Given the description of an element on the screen output the (x, y) to click on. 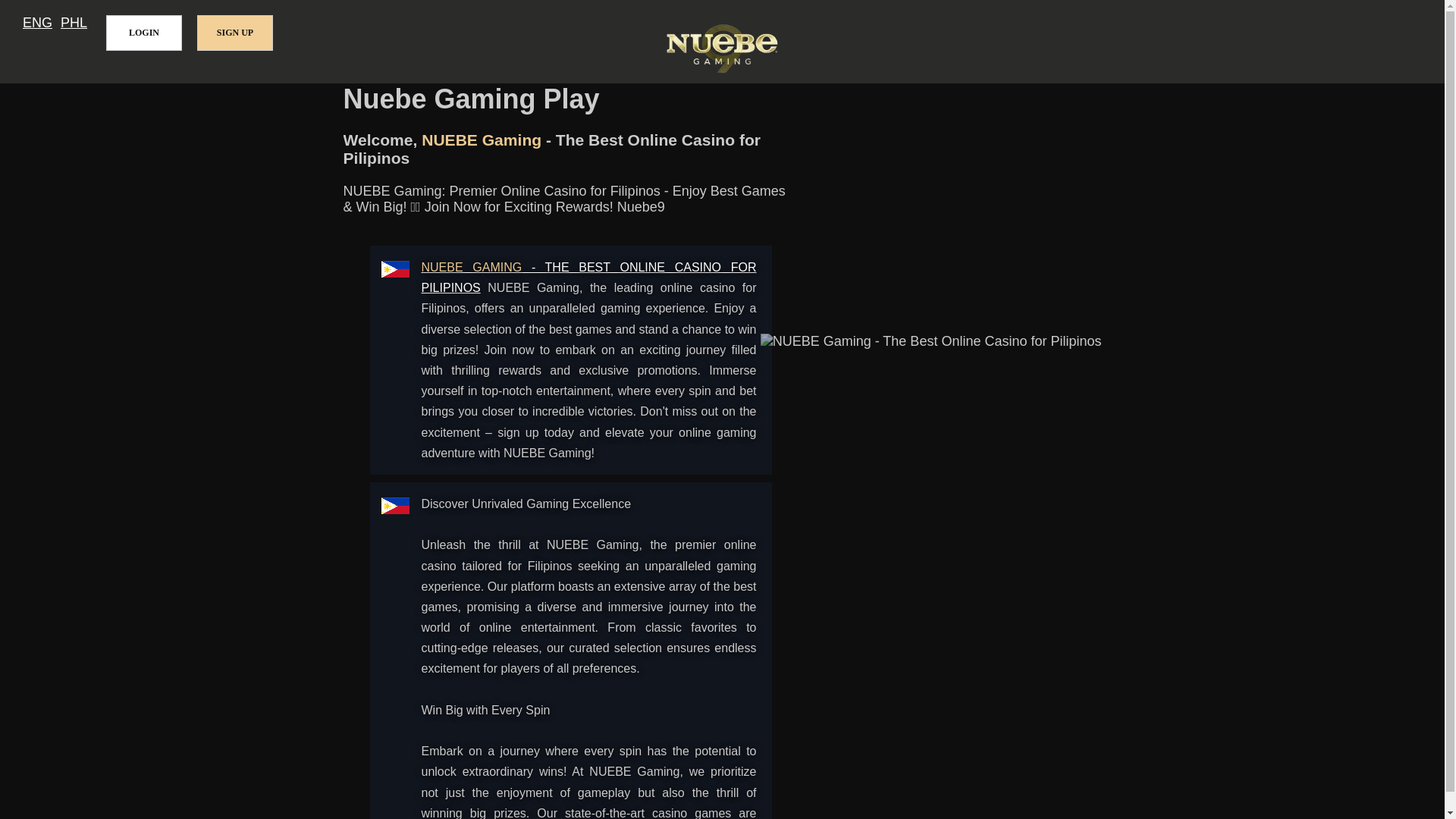
English (37, 23)
NUEBE GAMING - THE BEST ONLINE CASINO FOR PILIPINOS (589, 277)
SIGN UP (234, 32)
NUEBE Gaming - The Best Online Casino for Pilipinos (589, 277)
Filipino (74, 23)
ENG (37, 23)
NUEBE Gaming - The Best Online Casino for Pilipinos Logo (721, 49)
LOGIN (144, 32)
PHL (74, 23)
